Given the description of an element on the screen output the (x, y) to click on. 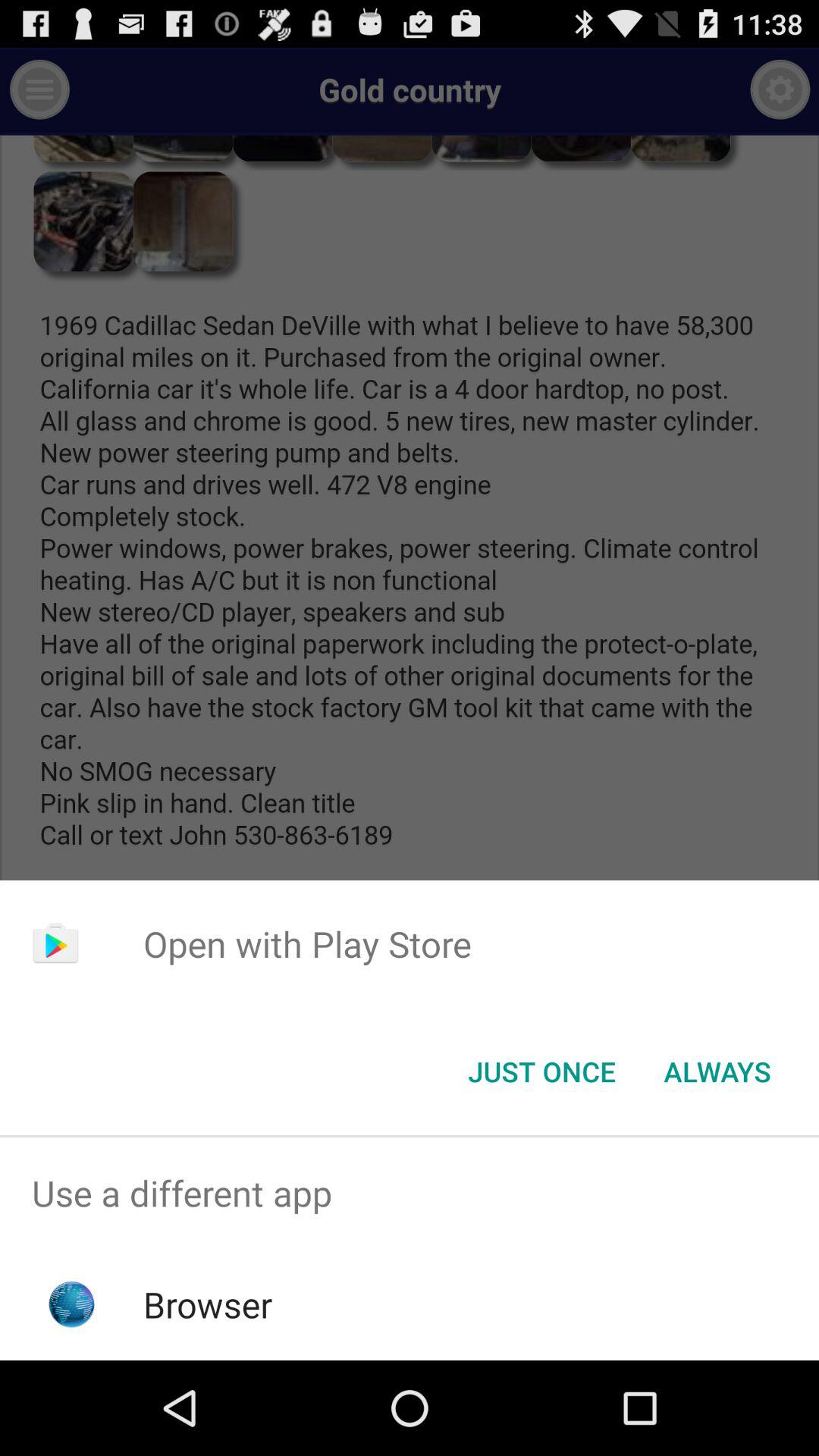
turn off icon below open with play item (717, 1071)
